Given the description of an element on the screen output the (x, y) to click on. 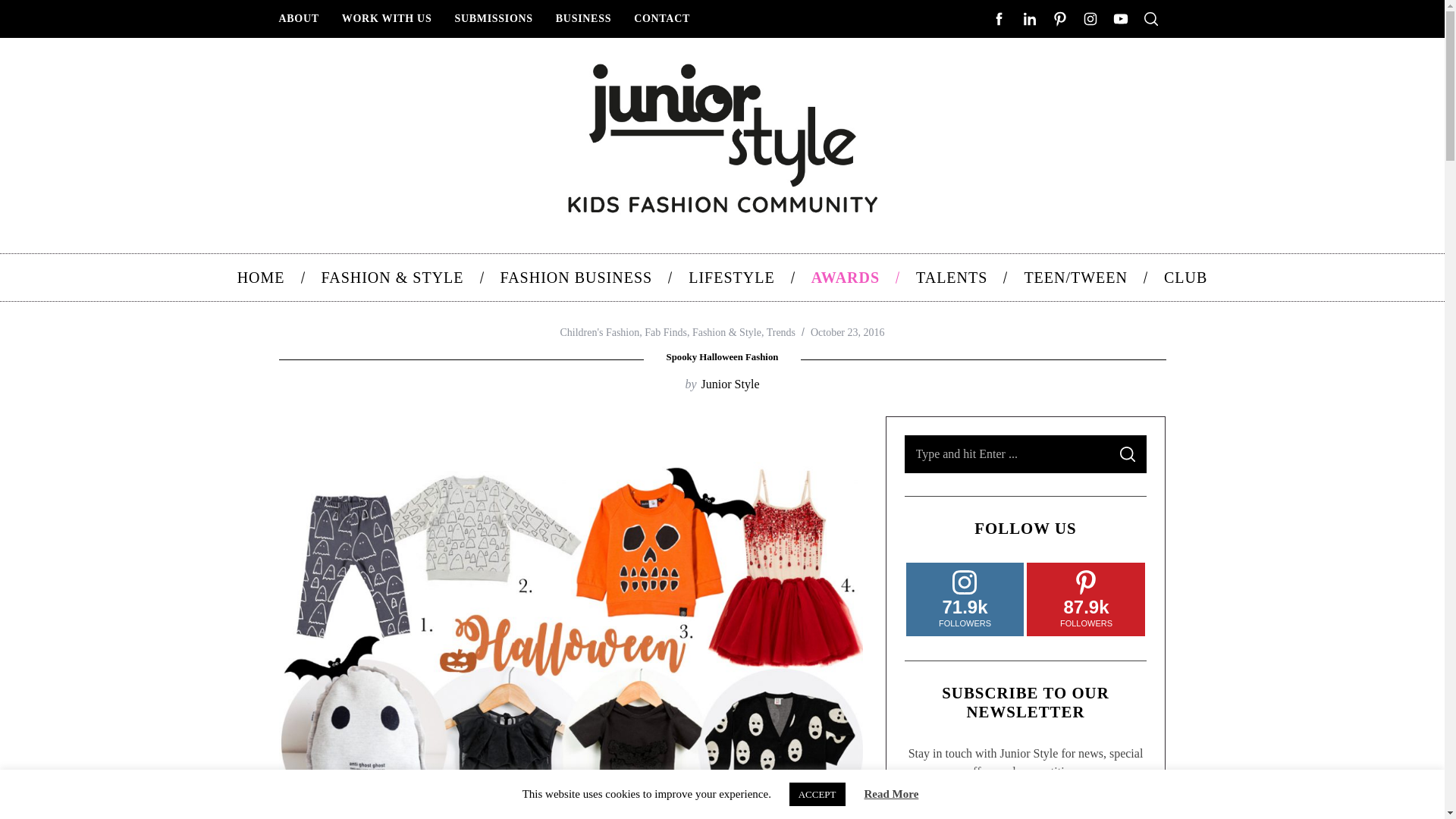
HOME (260, 277)
ABOUT (298, 18)
AWARDS (845, 277)
FASHION BUSINESS (576, 277)
LIFESTYLE (730, 277)
TALENTS (952, 277)
BUSINESS (583, 18)
CONTACT (662, 18)
WORK WITH US (387, 18)
SUBMISSIONS (492, 18)
